Given the description of an element on the screen output the (x, y) to click on. 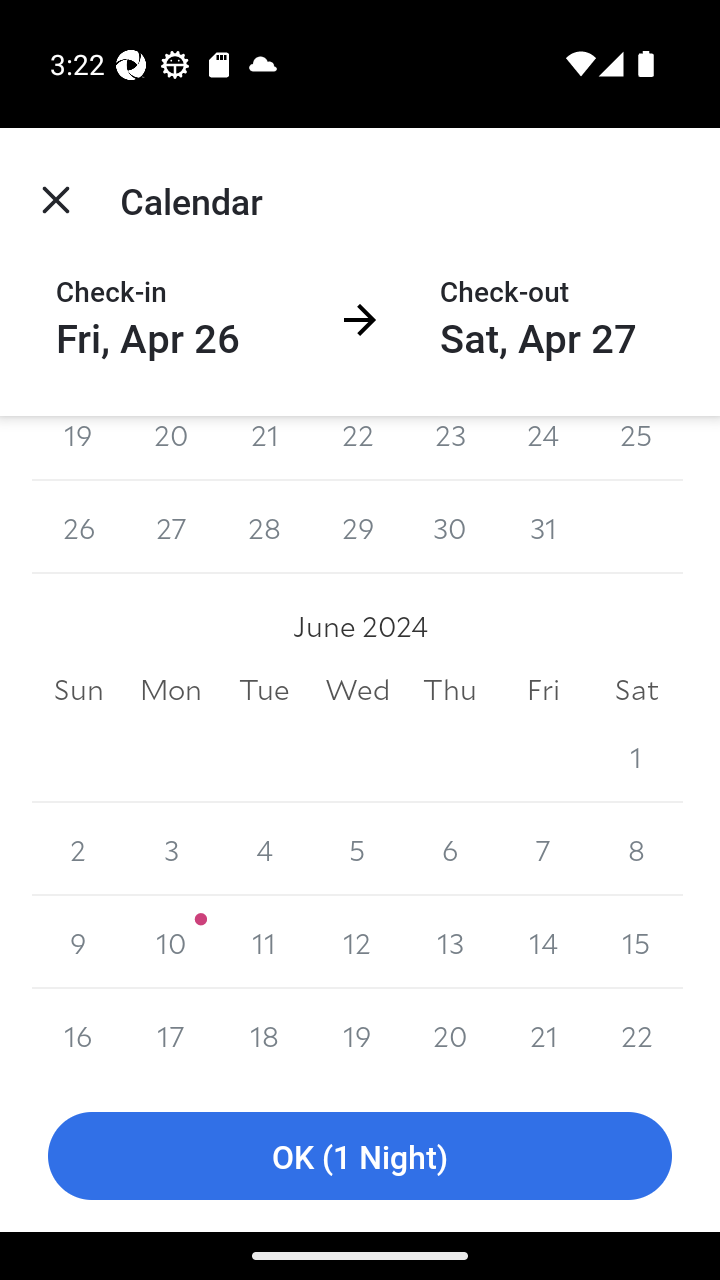
19 19 May 2024 (78, 448)
20 20 May 2024 (171, 448)
21 21 May 2024 (264, 448)
22 22 May 2024 (357, 448)
23 23 May 2024 (449, 448)
24 24 May 2024 (542, 448)
25 25 May 2024 (636, 448)
26 26 May 2024 (78, 527)
27 27 May 2024 (171, 527)
28 28 May 2024 (264, 527)
29 29 May 2024 (357, 527)
30 30 May 2024 (449, 527)
31 31 May 2024 (542, 527)
Sun (78, 689)
Mon (171, 689)
Tue (264, 689)
Wed (357, 689)
Thu (449, 689)
Fri (542, 689)
Sat (636, 689)
1 1 June 2024 (636, 756)
2 2 June 2024 (78, 849)
3 3 June 2024 (171, 849)
4 4 June 2024 (264, 849)
5 5 June 2024 (357, 849)
6 6 June 2024 (449, 849)
7 7 June 2024 (542, 849)
8 8 June 2024 (636, 849)
9 9 June 2024 (78, 942)
10 10 June 2024 (171, 942)
11 11 June 2024 (264, 942)
12 12 June 2024 (357, 942)
13 13 June 2024 (449, 942)
14 14 June 2024 (542, 942)
15 15 June 2024 (636, 942)
16 16 June 2024 (78, 1034)
17 17 June 2024 (171, 1034)
18 18 June 2024 (264, 1034)
19 19 June 2024 (357, 1034)
20 20 June 2024 (449, 1034)
21 21 June 2024 (542, 1034)
22 22 June 2024 (636, 1034)
OK (1 Night) (359, 1156)
